Given the description of an element on the screen output the (x, y) to click on. 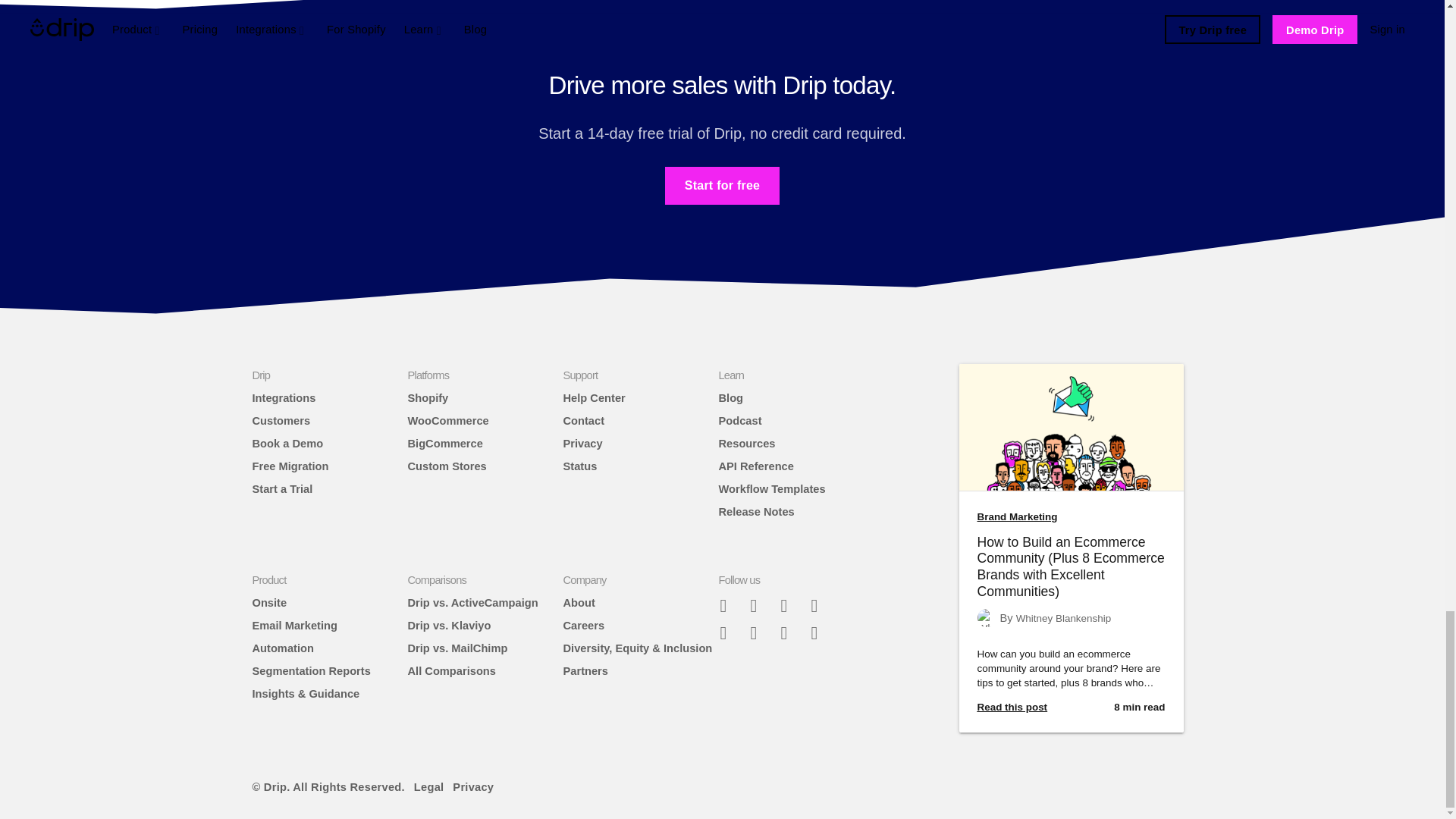
Linkedin (789, 632)
Tiktok (729, 632)
Instagram (820, 605)
Spotify (759, 632)
Slack (729, 605)
Twitter (789, 605)
YouTube (820, 632)
Facebook (759, 605)
